Given the description of an element on the screen output the (x, y) to click on. 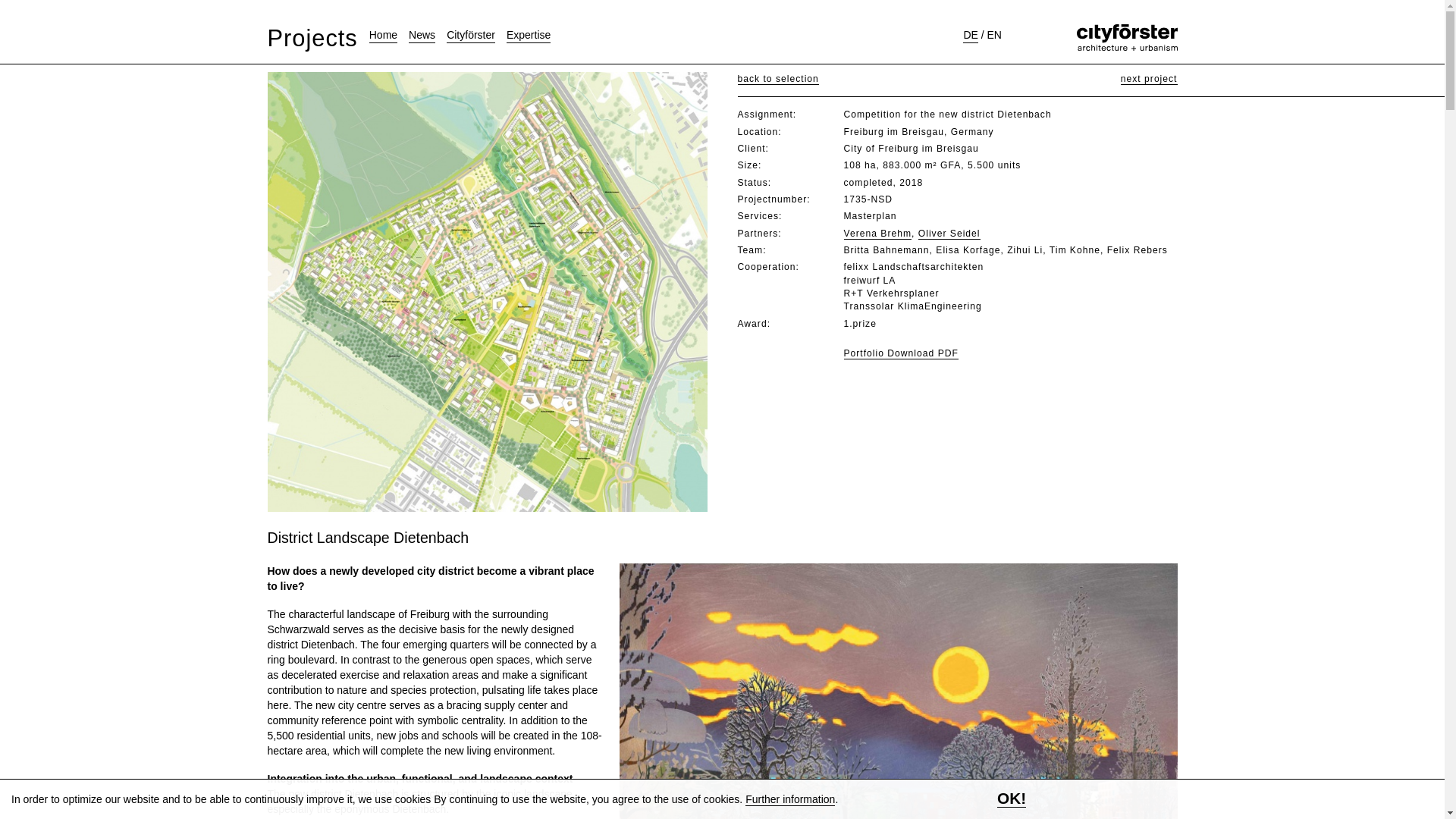
Verena Brehm (877, 233)
EN (994, 35)
en (994, 35)
Expertise (528, 35)
de (969, 35)
DE (969, 35)
Expertise (528, 35)
back to selection (777, 79)
Home (383, 35)
Oliver Seidel (948, 233)
